Given the description of an element on the screen output the (x, y) to click on. 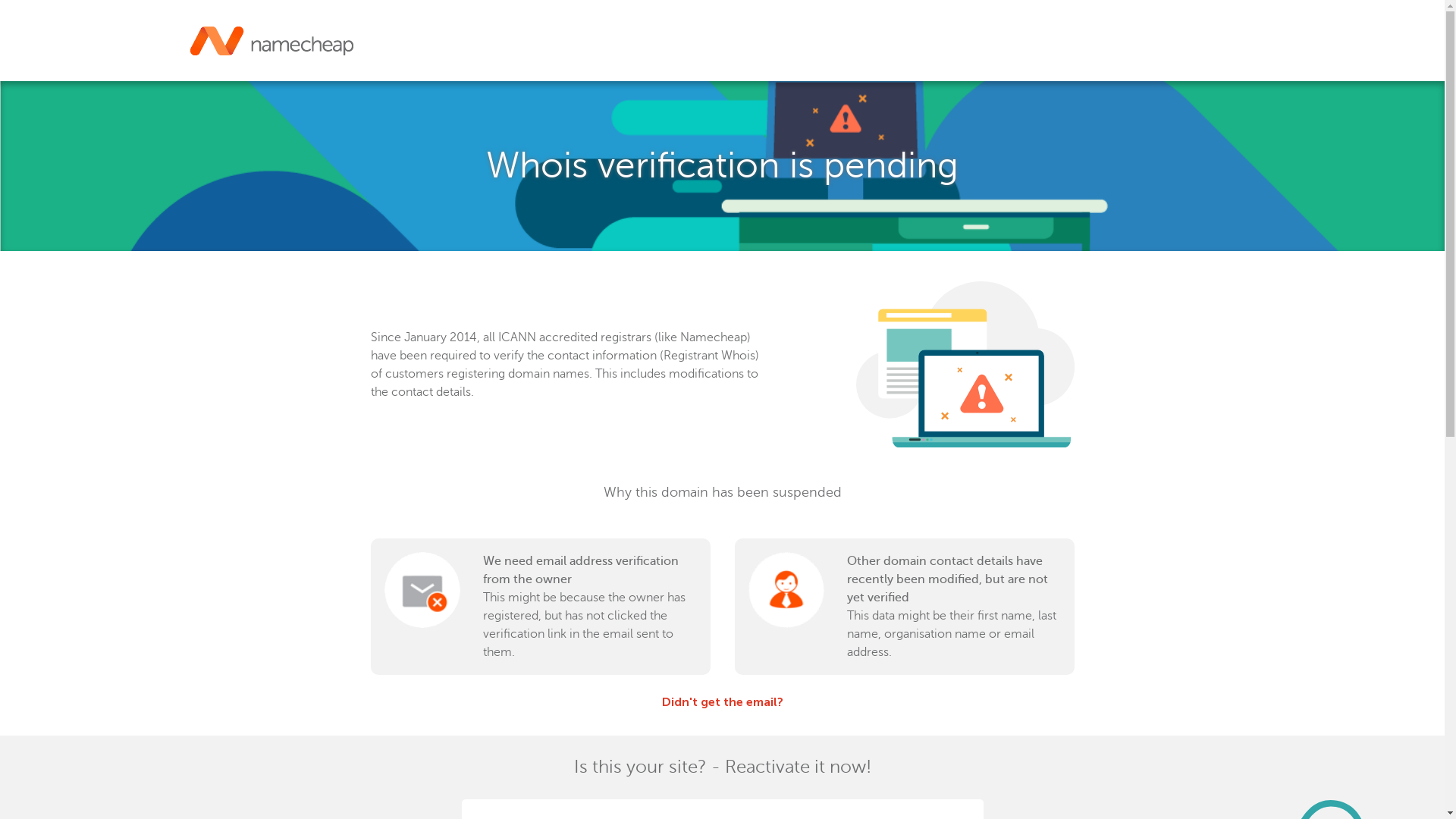
Didn't get the email? Element type: text (721, 701)
